Given the description of an element on the screen output the (x, y) to click on. 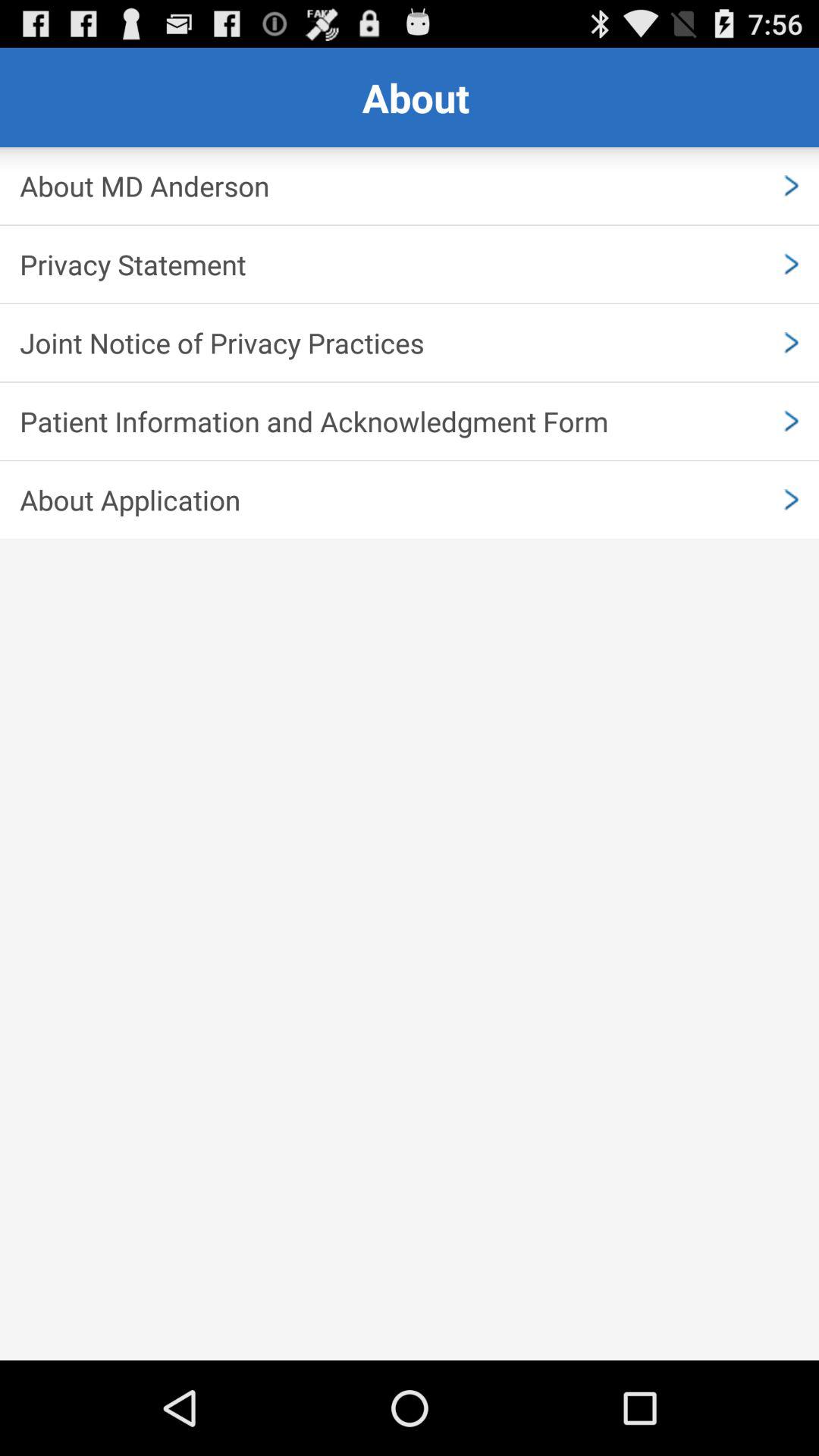
click the item below the about (409, 185)
